Given the description of an element on the screen output the (x, y) to click on. 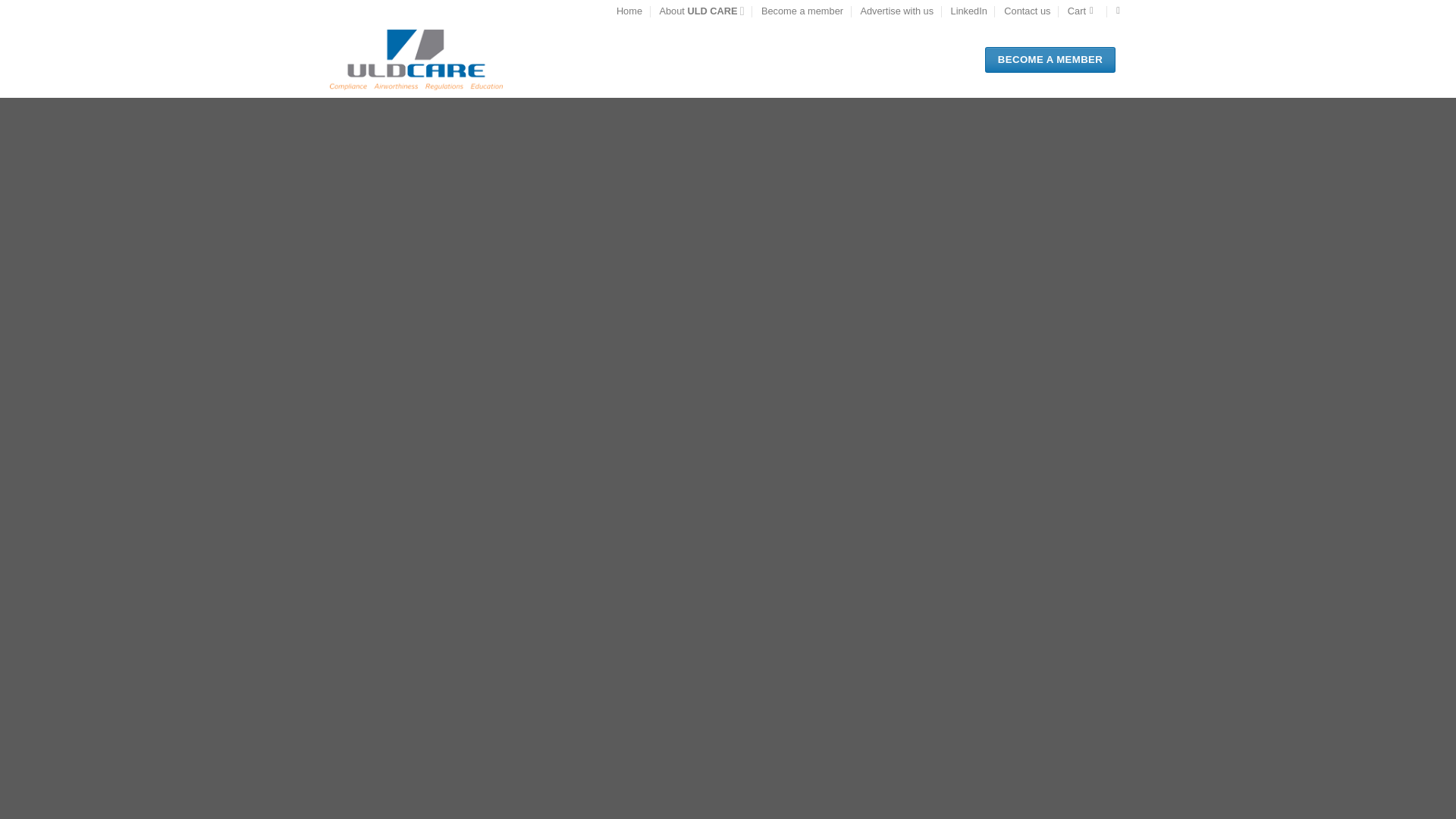
Cart (1083, 11)
BECOME A MEMBER (1050, 59)
Advertise with us (896, 11)
Cart (701, 11)
Skip to content (1083, 11)
Home (968, 11)
Become a member (628, 11)
Contact us (802, 11)
